Given the description of an element on the screen output the (x, y) to click on. 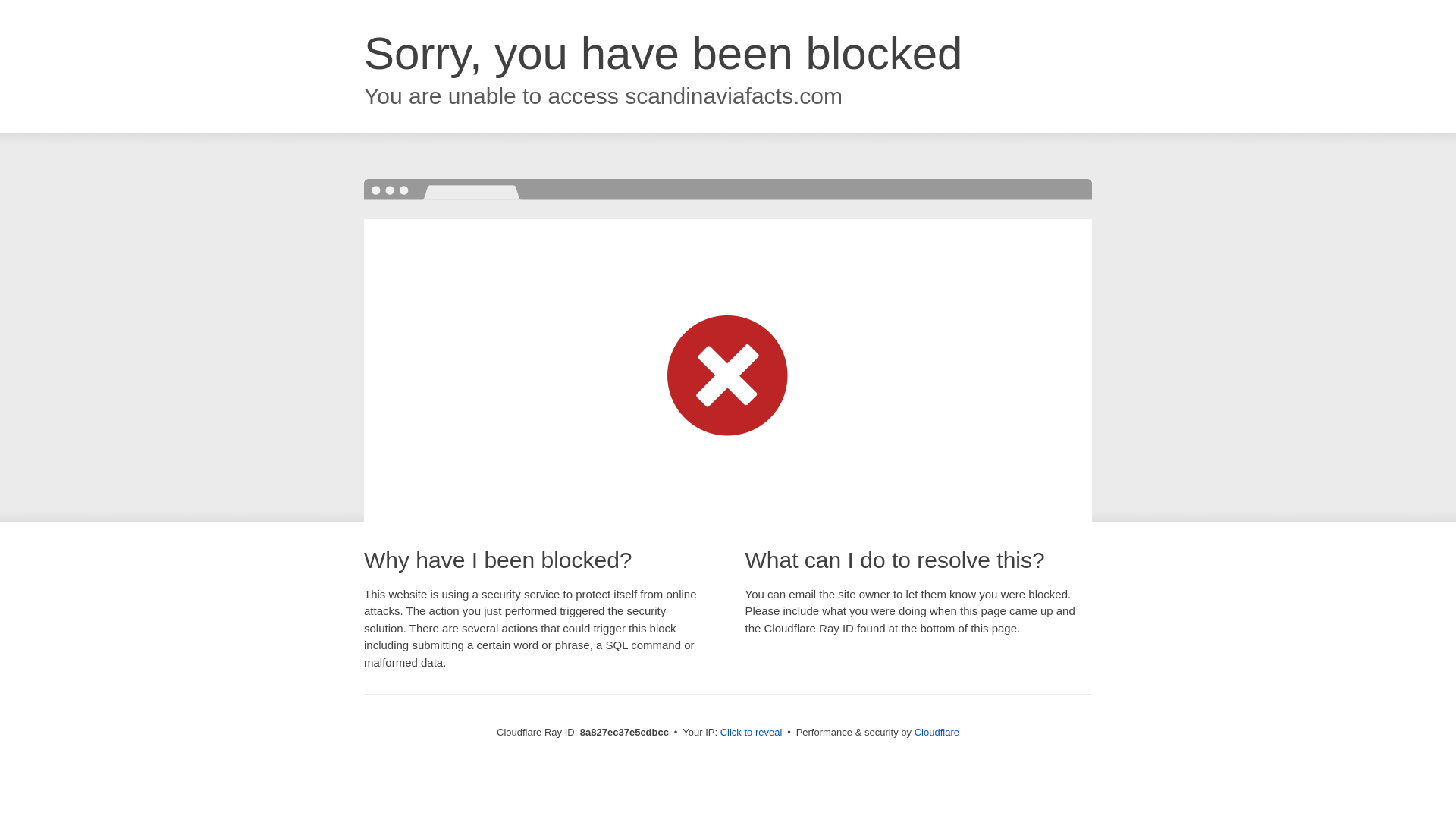
Cloudflare (936, 731)
Click to reveal (751, 732)
